Given the description of an element on the screen output the (x, y) to click on. 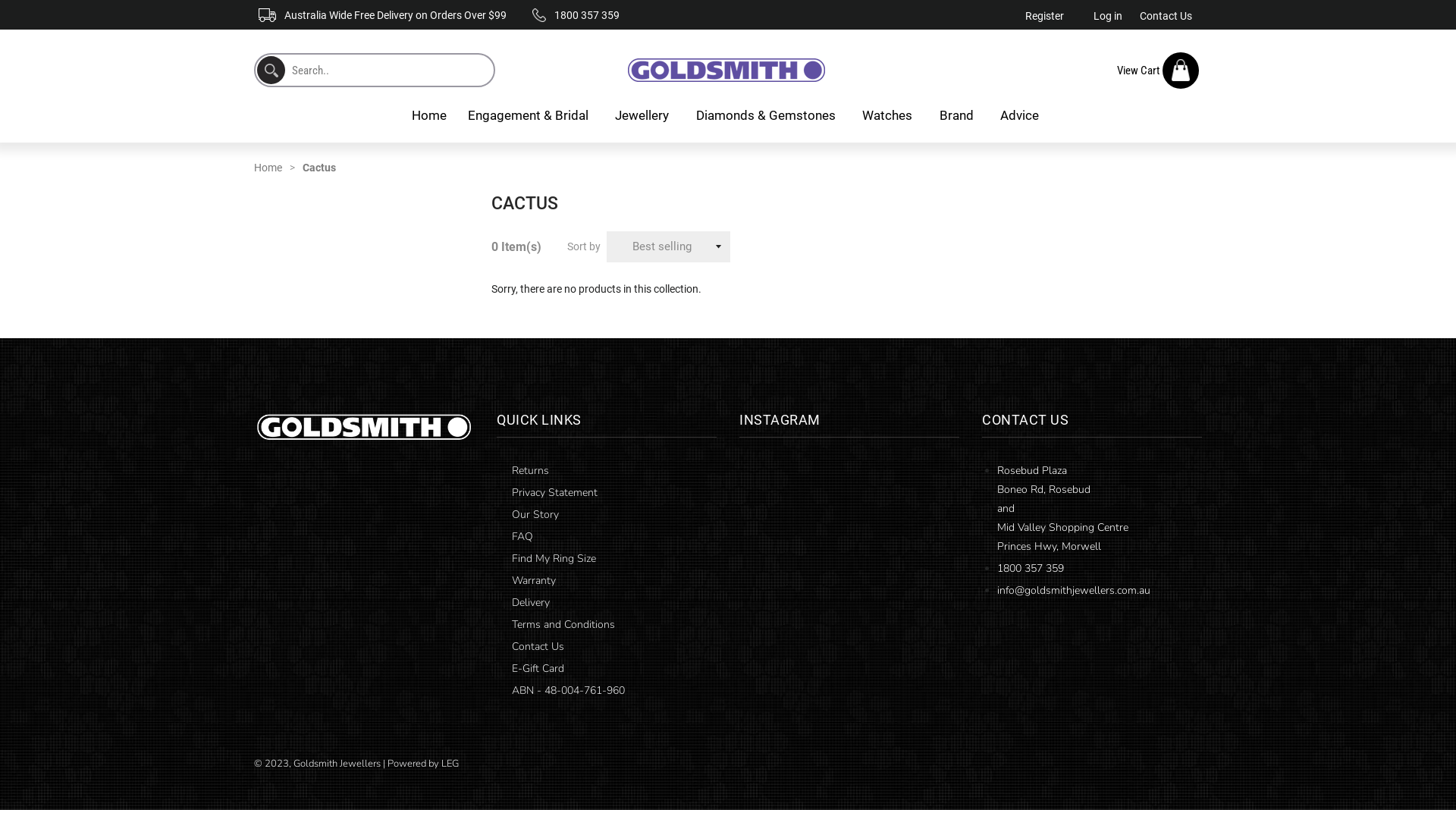
Contact Us Element type: text (536, 646)
FAQ Element type: text (520, 536)
SEARCH Element type: text (271, 70)
Goldsmith Jewellers Element type: text (337, 763)
Home Element type: text (278, 167)
Find My Ring Size Element type: text (552, 558)
Returns Element type: text (528, 470)
1800 357 359 Element type: text (1030, 568)
Privacy Statement Element type: text (552, 492)
Cactus Element type: text (318, 167)
Australia Wide Free Delivery on Orders Over $99 Element type: text (382, 14)
Brand Element type: text (958, 115)
Delivery Element type: text (528, 602)
Engagement & Bridal Element type: text (530, 115)
Terms and Conditions Element type: text (561, 624)
info@goldsmithjewellers.com.au Element type: text (1073, 590)
Warranty Element type: text (531, 580)
E-Gift Card Element type: text (536, 668)
Watches Element type: text (890, 115)
View Cart
view cart Element type: text (1157, 70)
ABN - 48-004-761-960 Element type: text (566, 690)
Our Story Element type: text (533, 514)
1800 357 359 Element type: text (575, 14)
Advice Element type: text (1022, 115)
Jewellery Element type: text (644, 115)
Home Element type: text (428, 115)
Diamonds & Gemstones Element type: text (768, 115)
